Given the description of an element on the screen output the (x, y) to click on. 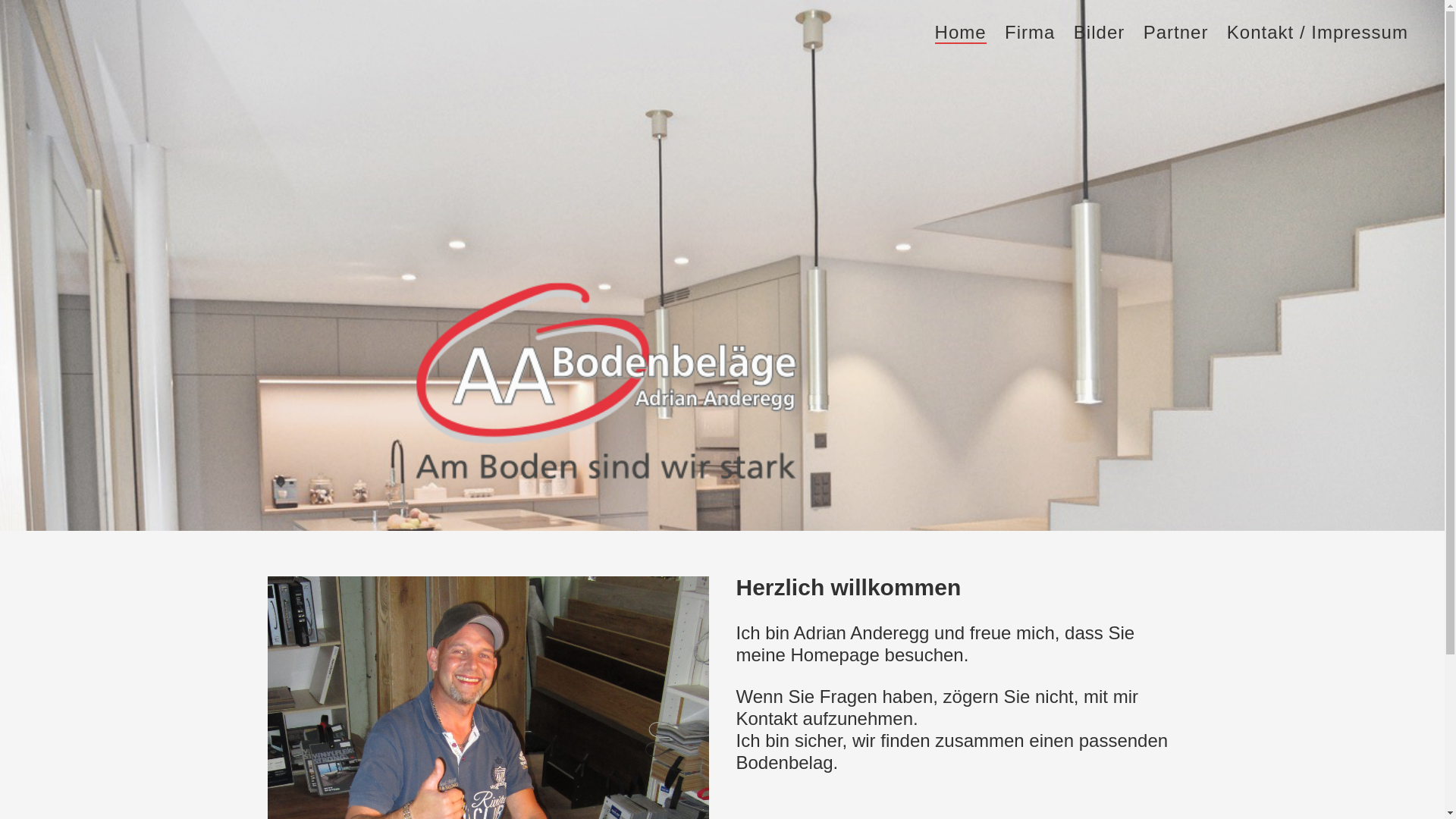
Home Element type: text (960, 33)
Bilder Element type: text (1098, 32)
Partner Element type: text (1175, 32)
Kontakt / Impressum Element type: text (1317, 32)
Firma Element type: text (1029, 32)
